Given the description of an element on the screen output the (x, y) to click on. 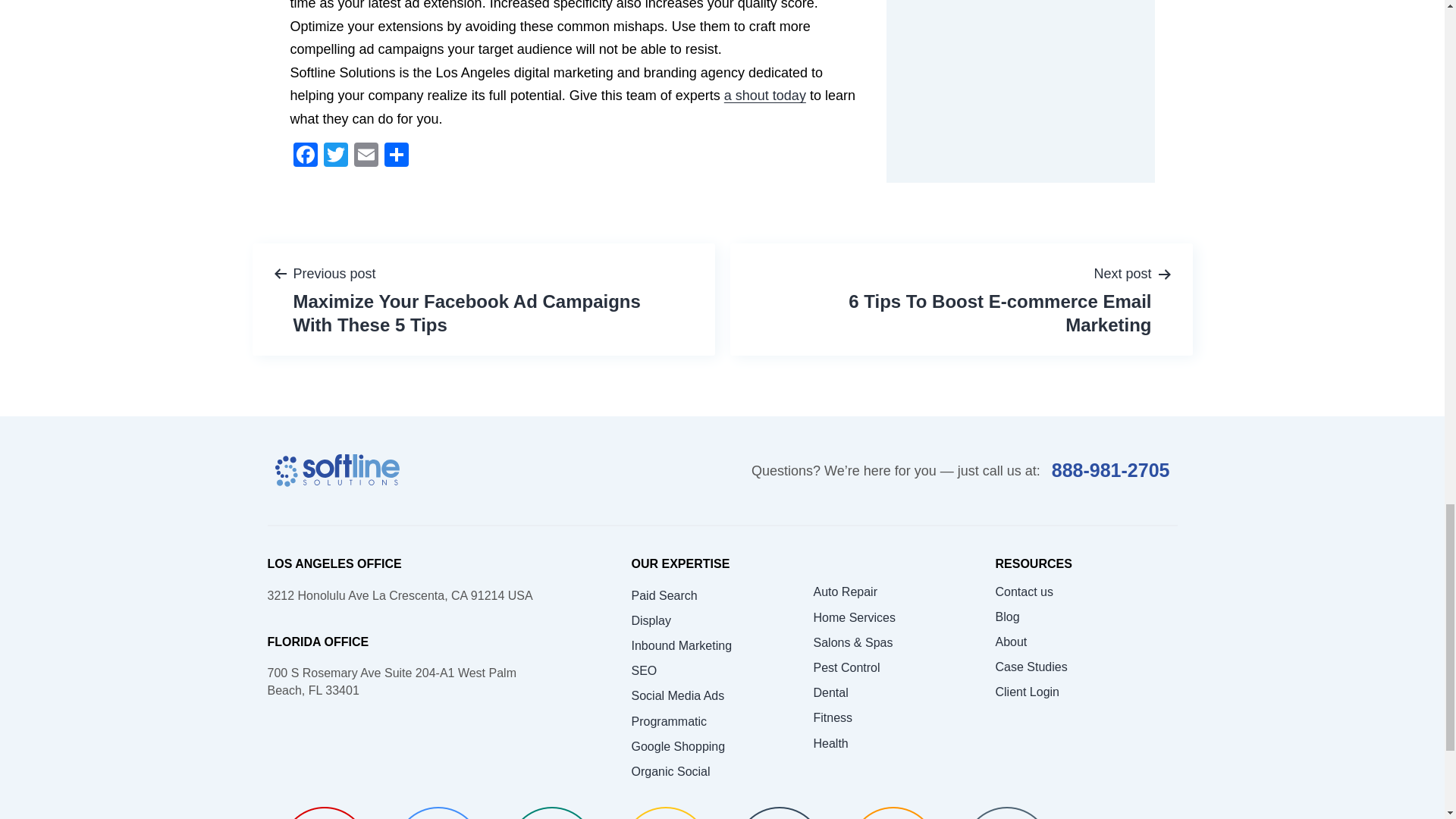
Facebook (304, 156)
Email (365, 156)
a shout today (764, 95)
Twitter (335, 156)
Facebook (304, 156)
Twitter (335, 156)
Email (365, 156)
